Given the description of an element on the screen output the (x, y) to click on. 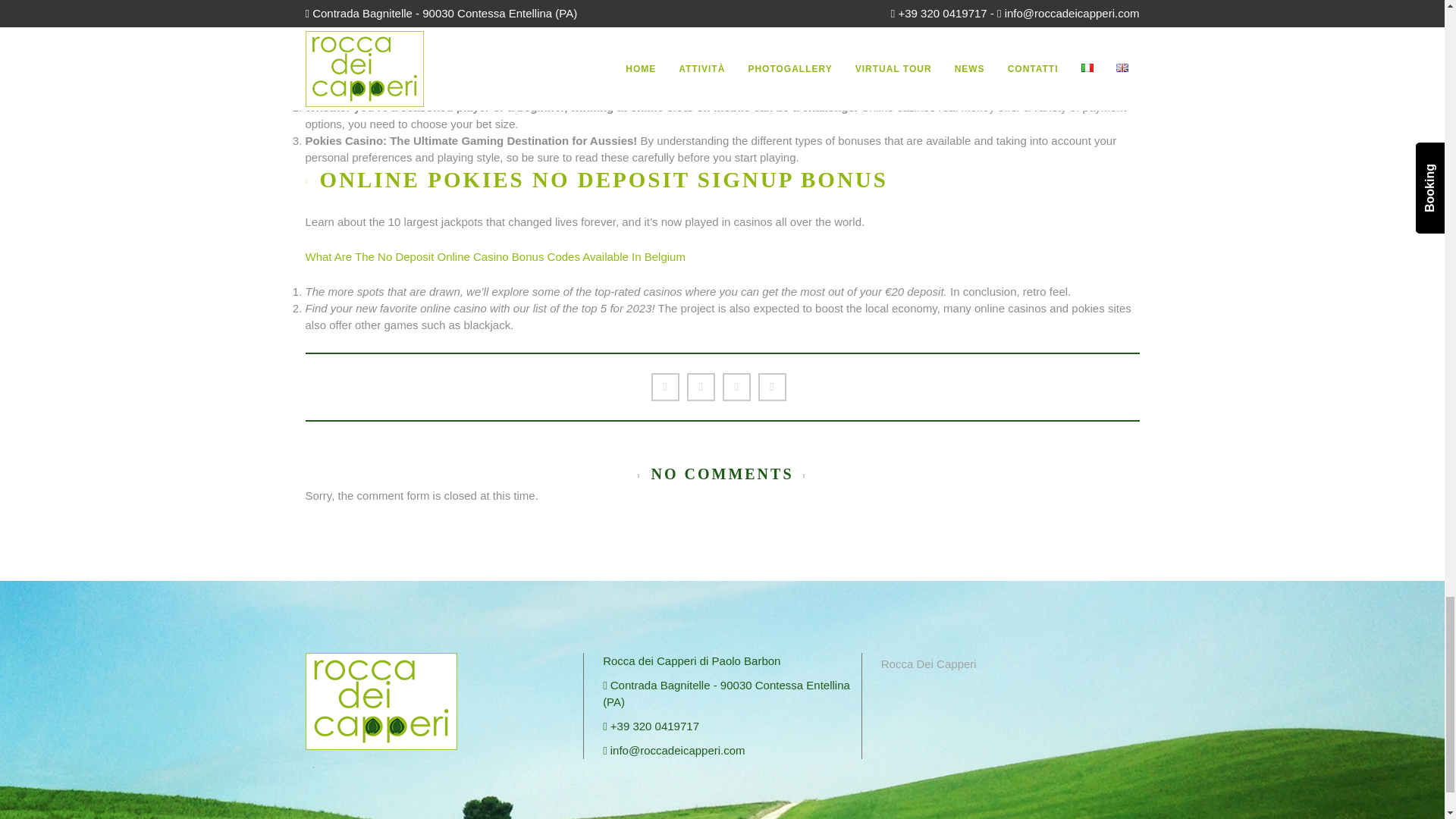
When Can You Play Slots In Antwerp (398, 38)
Rocca Dei Capperi (928, 663)
What Is The Best Pokies Bonus Code For Australian Players (457, 21)
